Given the description of an element on the screen output the (x, y) to click on. 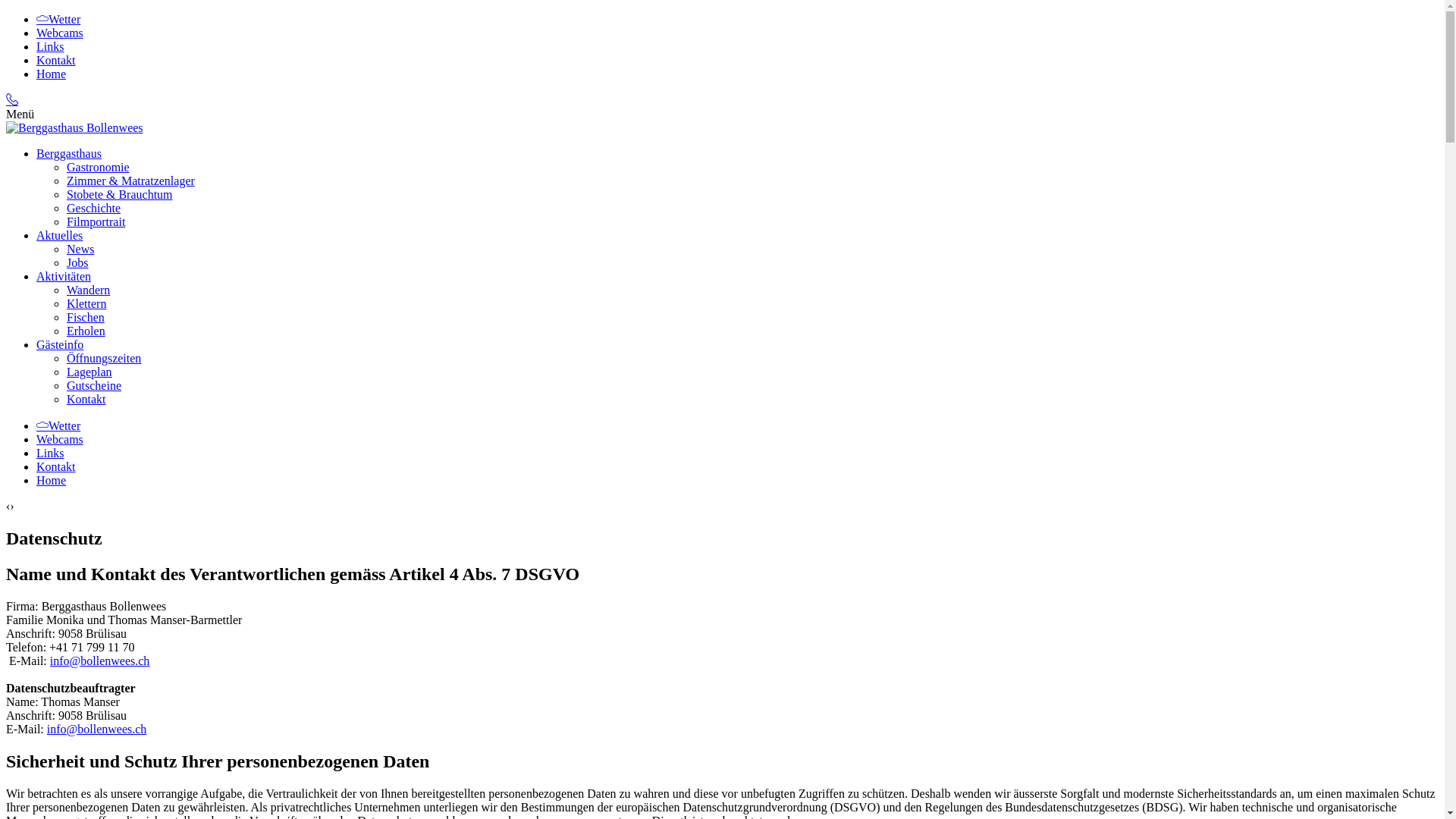
Geschichte Element type: text (93, 207)
Kontakt Element type: text (86, 398)
Home Element type: text (50, 479)
Webcams Element type: text (59, 32)
Gastronomie Element type: text (97, 166)
info@bollenwees.ch Element type: text (100, 660)
Kontakt Element type: text (55, 466)
Home Element type: hover (74, 127)
Kontakt Element type: text (55, 59)
Klettern Element type: text (86, 303)
Jobs Element type: text (76, 262)
Links Element type: text (49, 452)
Wetter Element type: text (58, 18)
Zimmer & Matratzenlager Element type: text (130, 180)
Stobete & Brauchtum Element type: text (119, 194)
News Element type: text (80, 248)
Filmportrait Element type: text (95, 221)
Lageplan Element type: text (89, 371)
info@bollenwees.ch Element type: text (97, 728)
Links Element type: text (49, 46)
Webcams Element type: text (59, 439)
Erholen Element type: text (85, 330)
Anrufen Element type: hover (12, 100)
Home Element type: text (50, 73)
Wandern Element type: text (87, 289)
Berggasthaus Element type: text (68, 153)
Wetter Element type: text (58, 425)
Gutscheine Element type: text (93, 385)
Fischen Element type: text (85, 316)
Aktuelles Element type: text (59, 235)
